Given the description of an element on the screen output the (x, y) to click on. 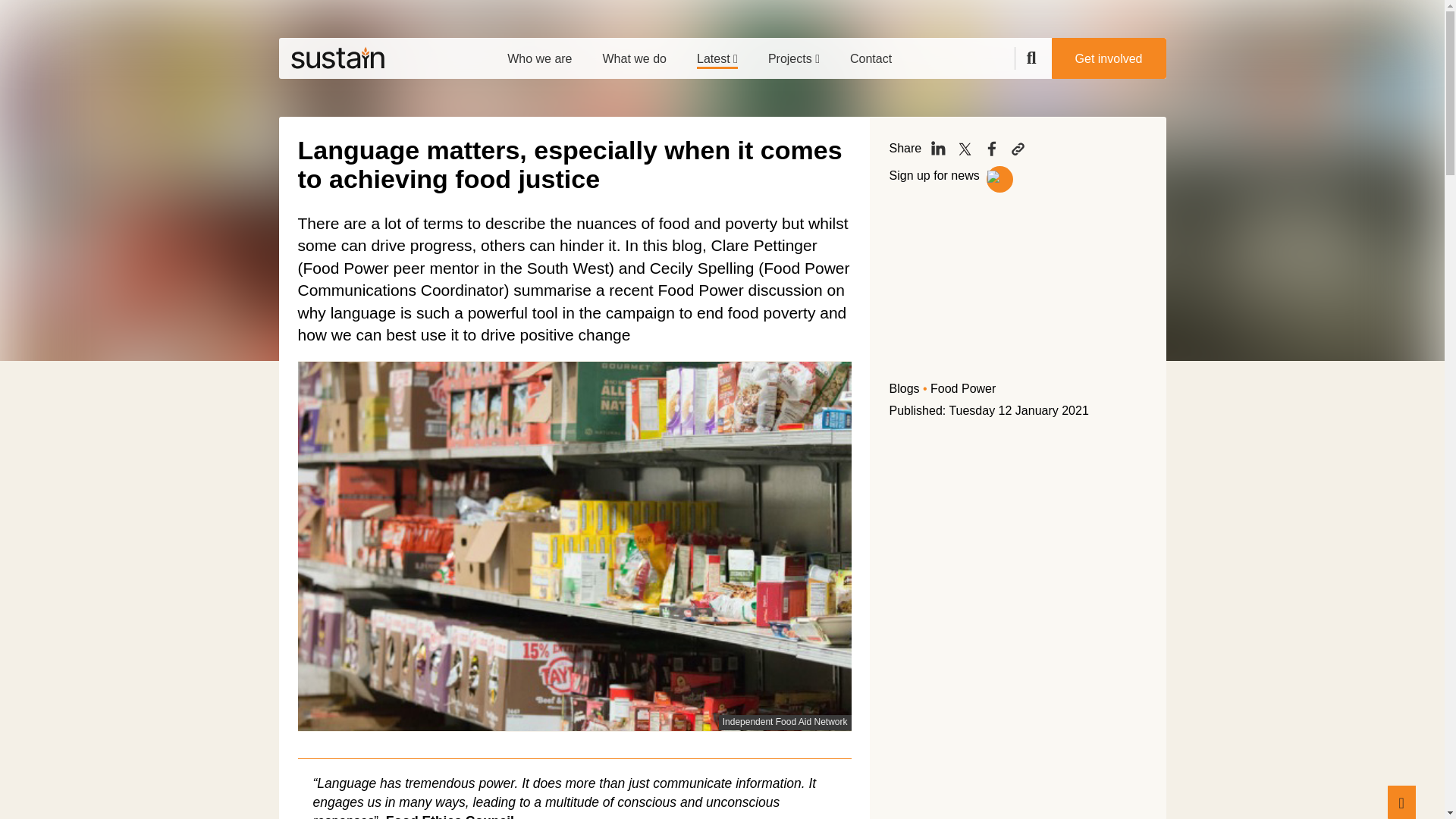
Food Power (962, 388)
Latest (717, 52)
What we do (634, 52)
LinkedIn (938, 148)
Sustain: the alliance for better food and farming (336, 57)
Blogs (903, 388)
Sign up for news (935, 174)
Projects (793, 52)
Who we are (539, 52)
Share link (1017, 148)
